Given the description of an element on the screen output the (x, y) to click on. 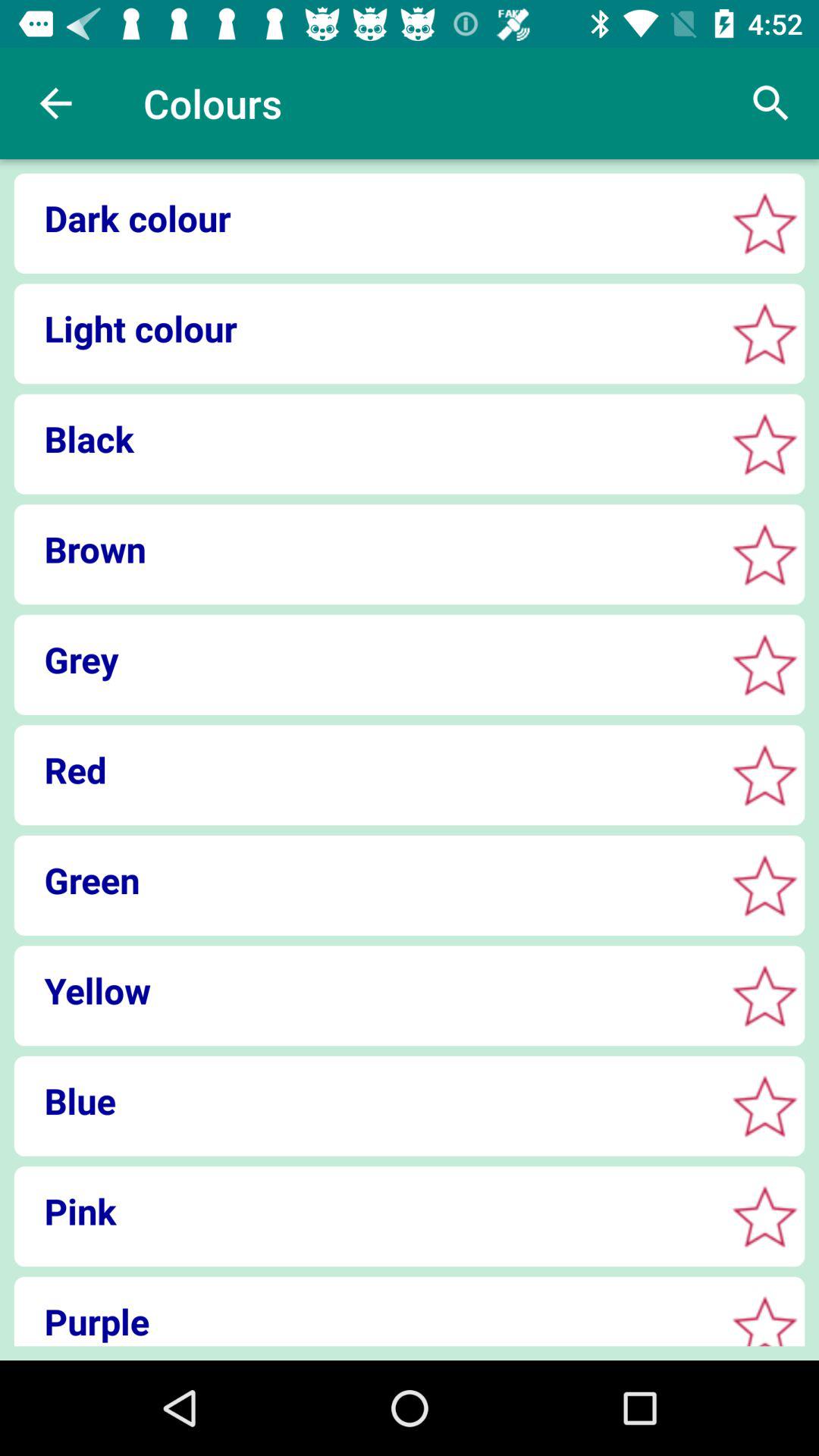
open the green icon (364, 879)
